Given the description of an element on the screen output the (x, y) to click on. 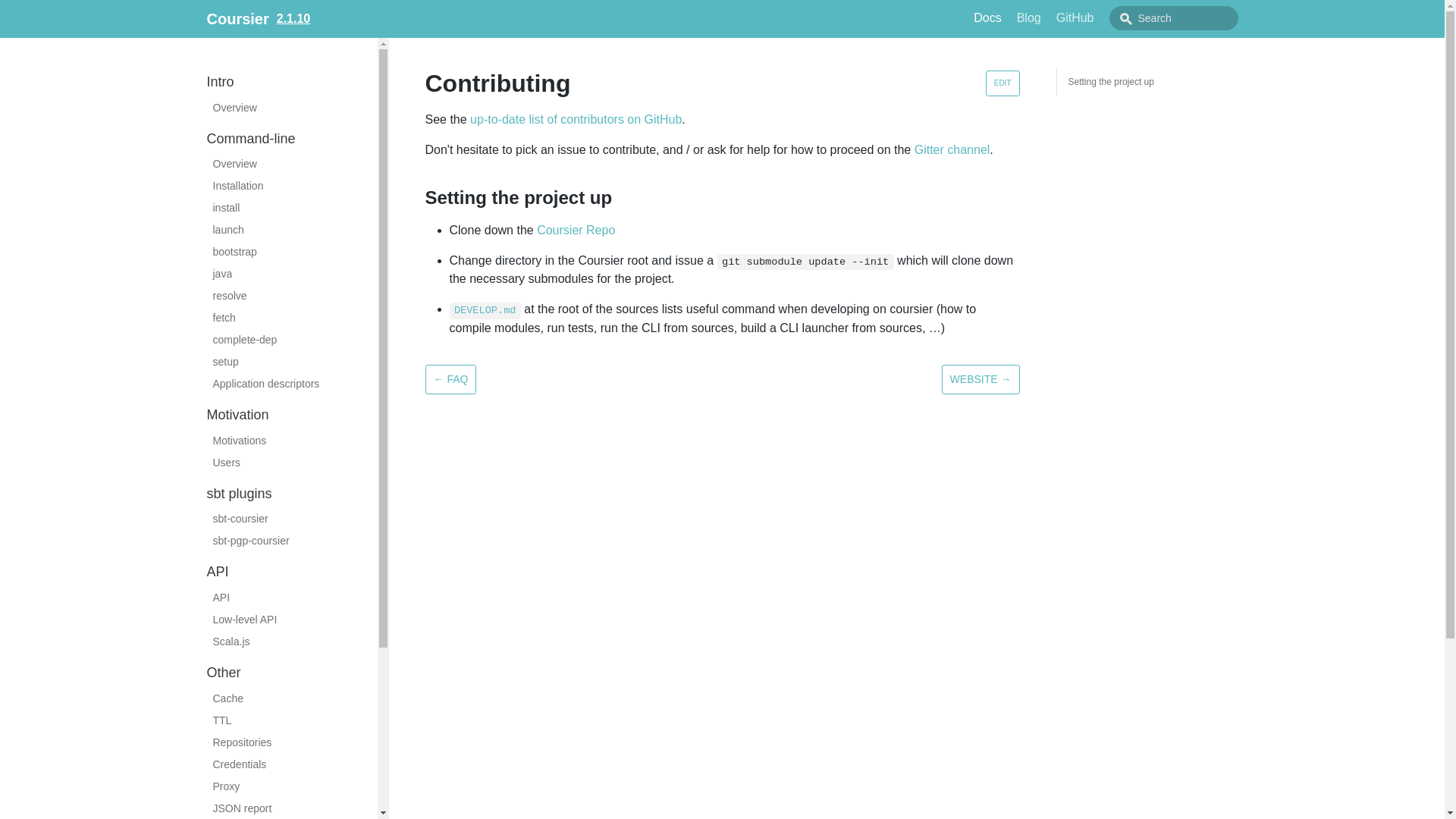
GitHub (1075, 17)
Installation (291, 186)
TTL (291, 721)
fetch (291, 318)
install (291, 208)
sbt-pgp-coursier (291, 540)
Proxy (291, 786)
Cache (291, 698)
bootstrap (291, 251)
setup (291, 362)
